Given the description of an element on the screen output the (x, y) to click on. 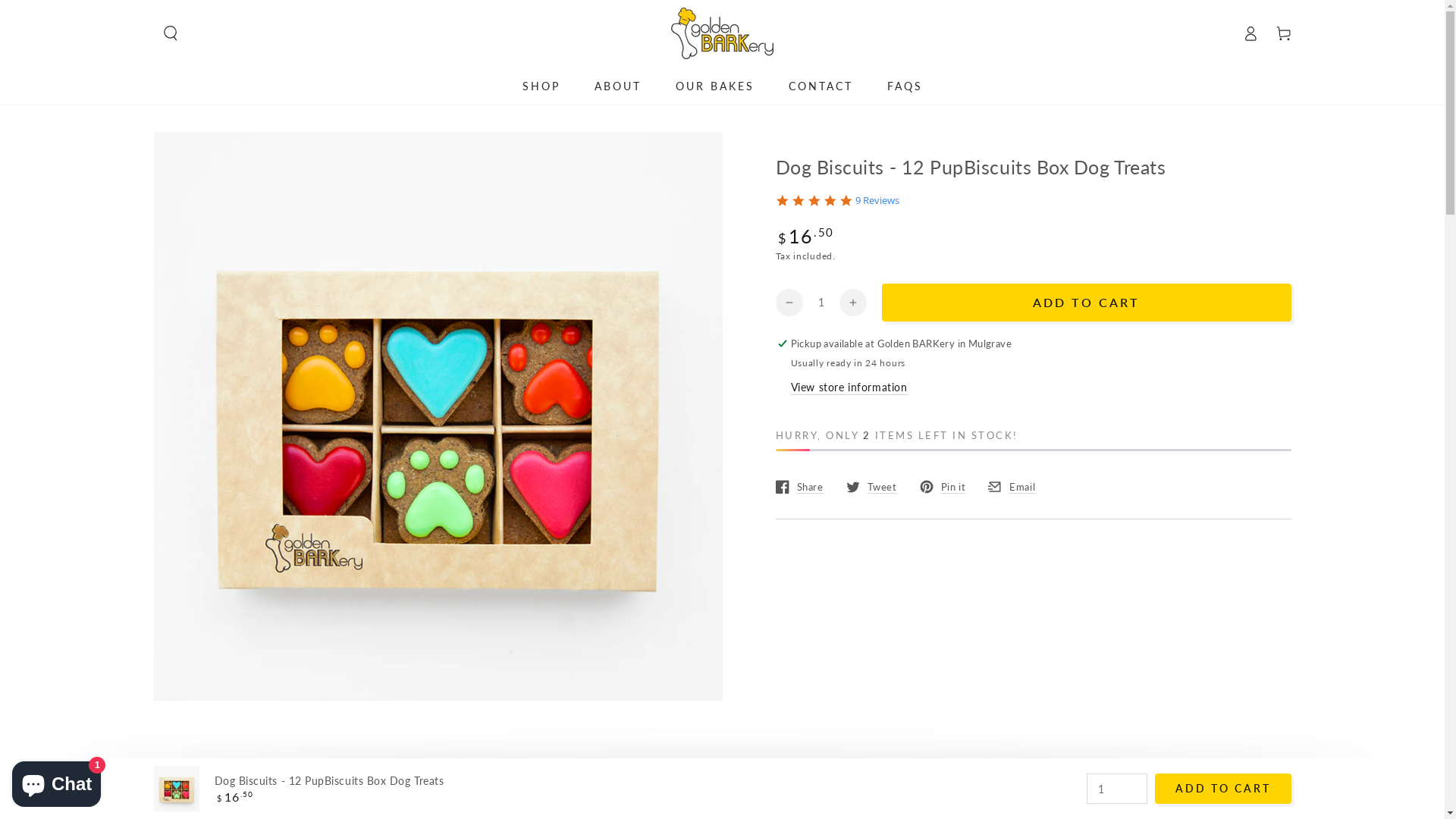
CONTACT Element type: text (819, 84)
Pin it
Opens in a new window. Element type: text (942, 486)
SHOP Element type: text (541, 84)
Email
Opens in a new window. Element type: text (1011, 486)
OUR BAKES Element type: text (714, 84)
Share
Opens in a new window. Element type: text (798, 486)
Tweet
Opens in a new window. Element type: text (871, 486)
Log in Element type: text (1249, 33)
9 Reviews Element type: text (877, 200)
FAQS Element type: text (904, 84)
ABOUT Element type: text (617, 84)
SKIP TO PRODUCT INFORMATION Element type: text (244, 150)
ADD TO CART Element type: text (1222, 788)
View store information Element type: text (848, 387)
Shopify online store chat Element type: hover (56, 780)
ADD TO CART Element type: text (1085, 302)
Open media 1 in modal Element type: text (437, 415)
